Given the description of an element on the screen output the (x, y) to click on. 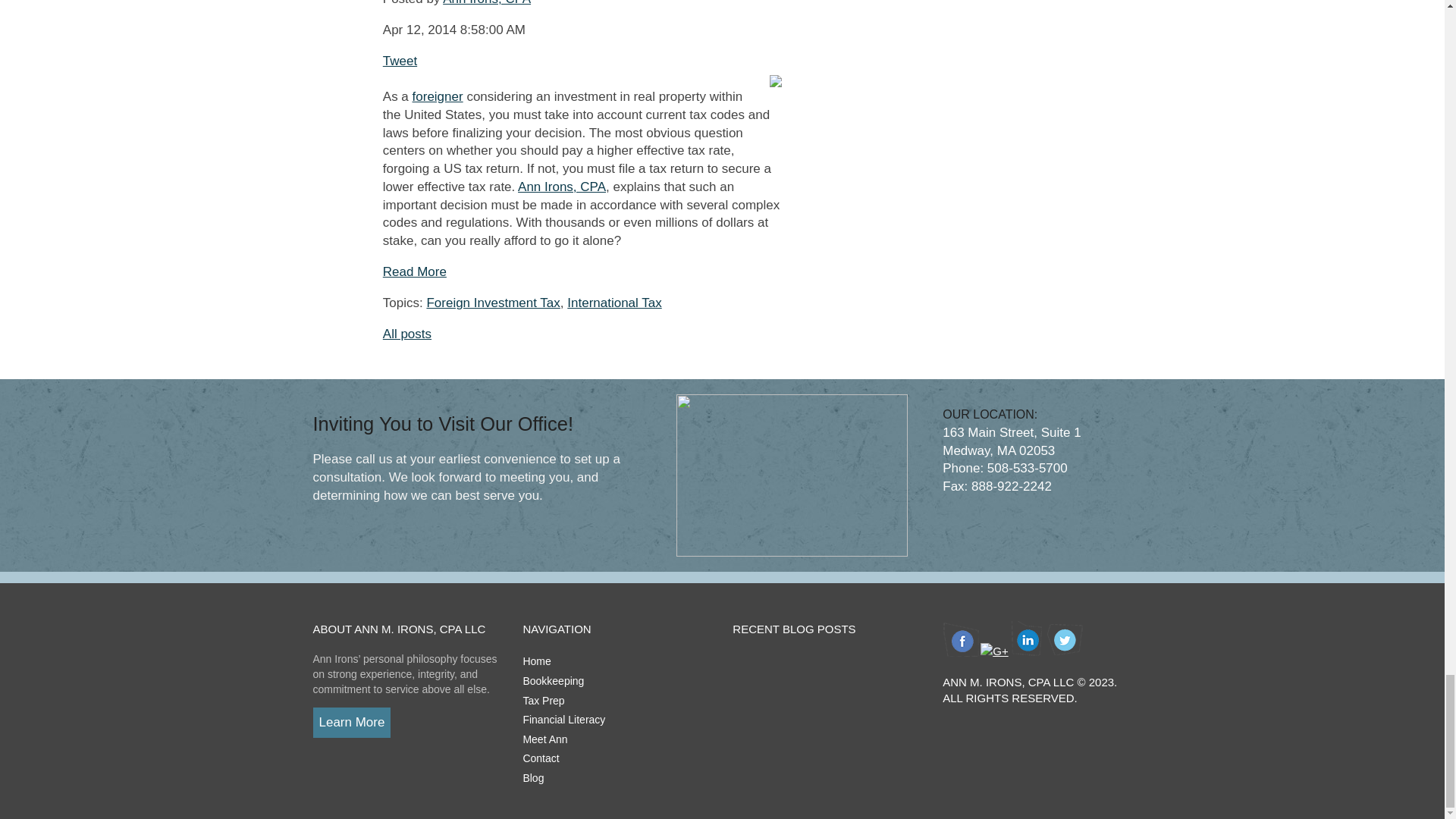
irons-map2.png (792, 474)
